Given the description of an element on the screen output the (x, y) to click on. 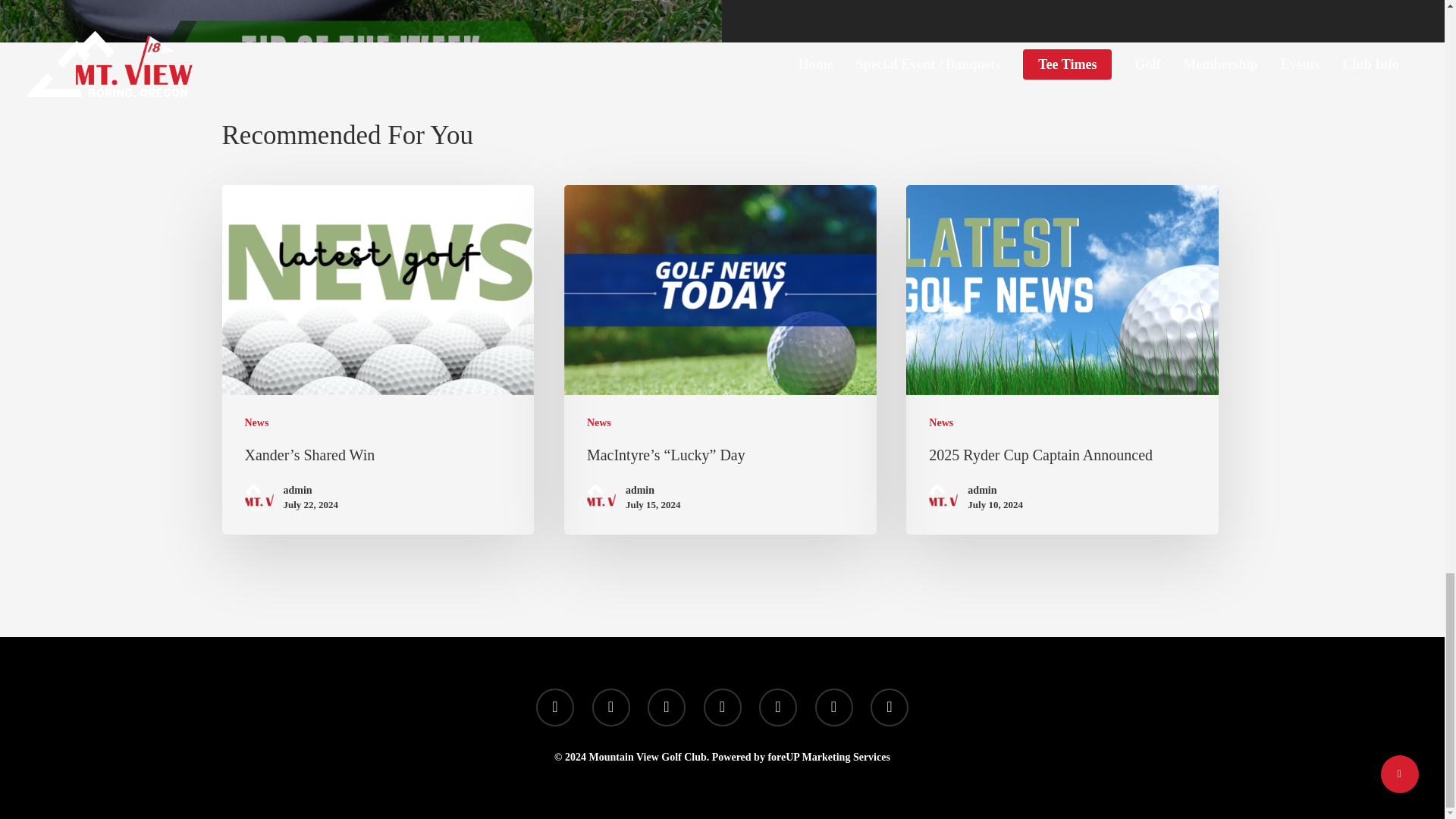
admin (311, 490)
admin (653, 490)
News (255, 422)
News (598, 422)
